Given the description of an element on the screen output the (x, y) to click on. 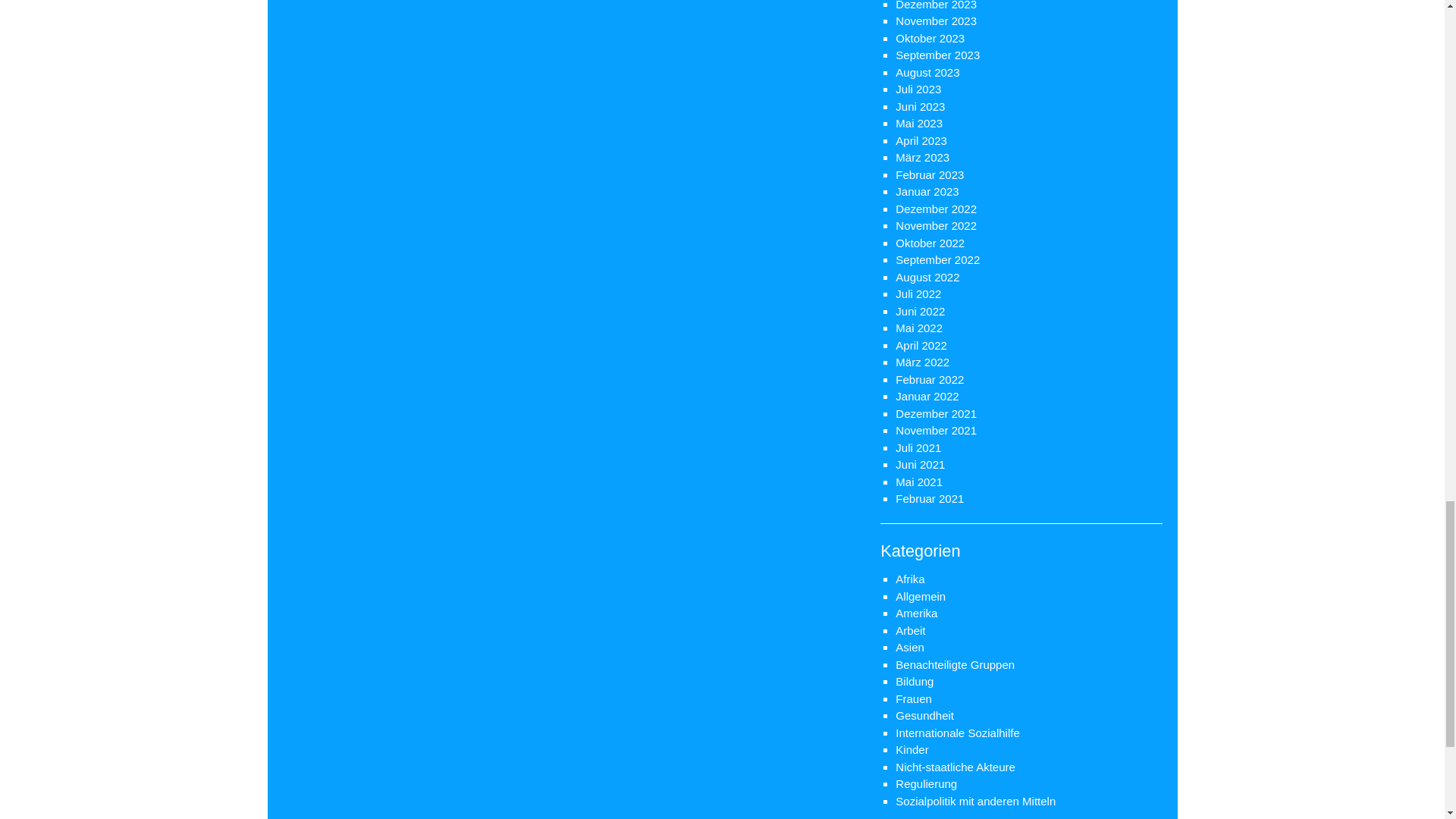
Oktober 2023 (929, 38)
Mai 2023 (918, 123)
Dezember 2023 (935, 4)
Februar 2023 (929, 174)
April 2023 (921, 139)
Juni 2023 (919, 106)
August 2023 (927, 71)
Dezember 2022 (935, 207)
September 2023 (937, 54)
November 2023 (935, 20)
